Given the description of an element on the screen output the (x, y) to click on. 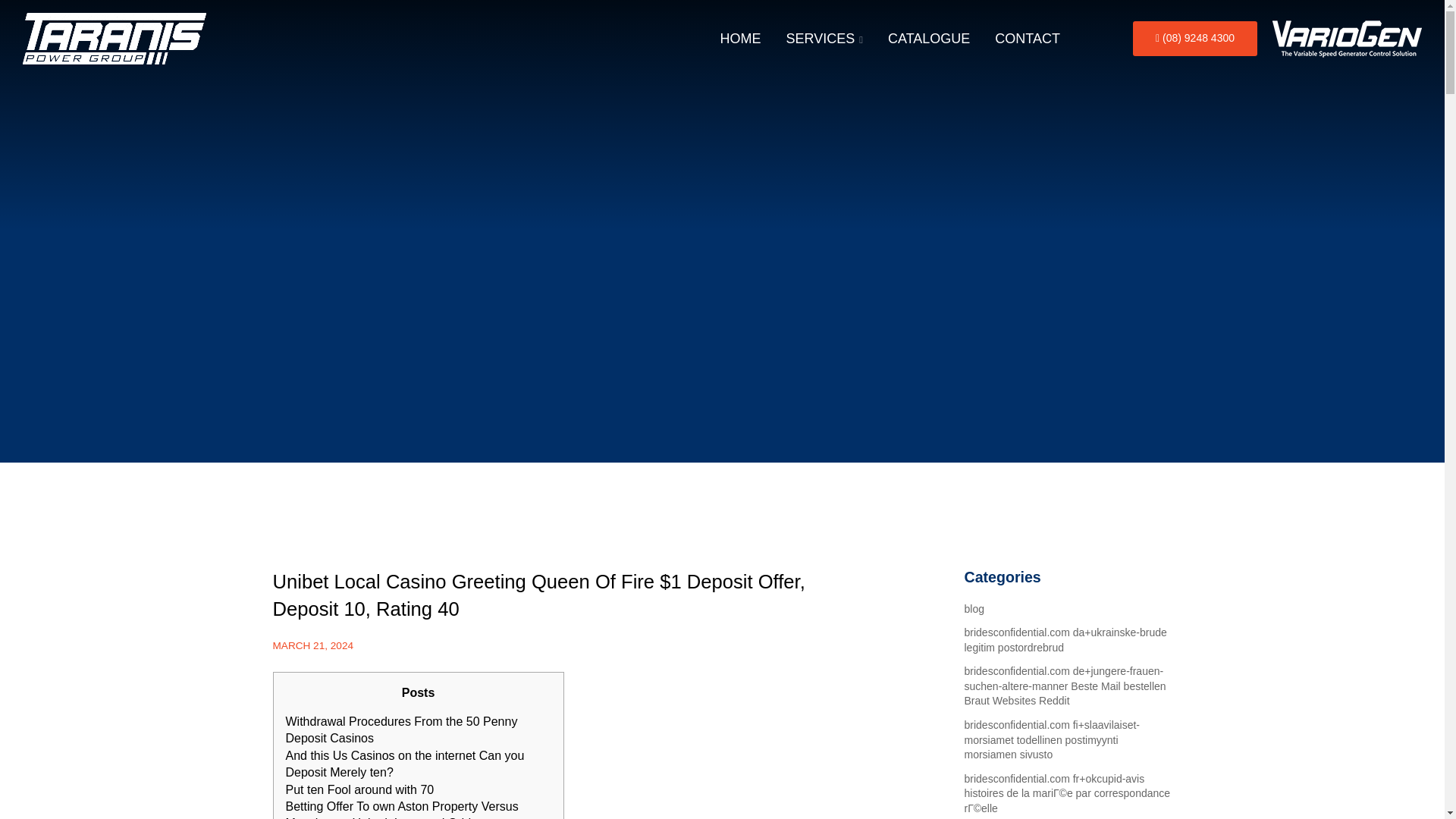
blog (973, 607)
Put ten Fool around with 70 (359, 789)
SERVICES (823, 39)
CONTACT (1027, 39)
Withdrawal Procedures From the 50 Penny Deposit Casinos (400, 729)
CATALOGUE (928, 39)
HOME (740, 39)
